Given the description of an element on the screen output the (x, y) to click on. 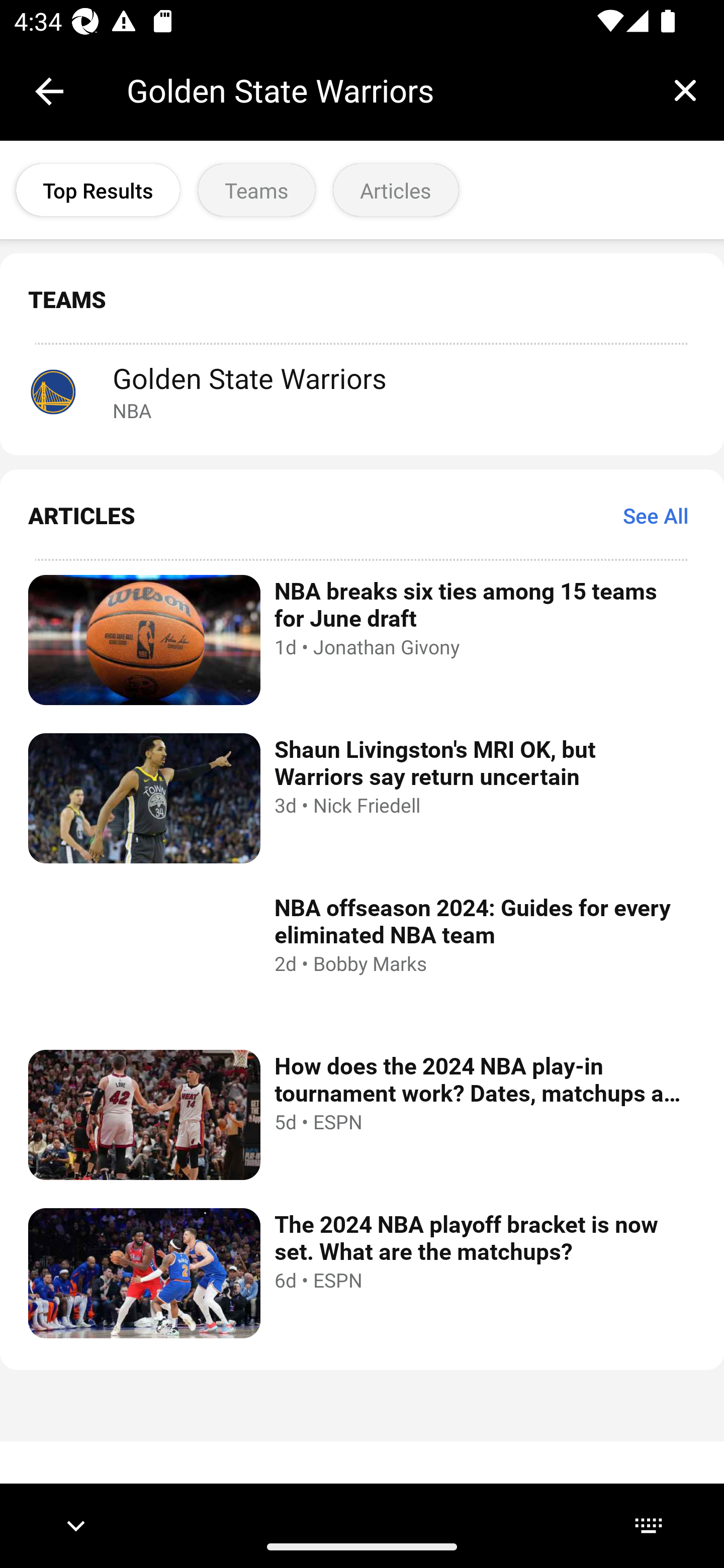
Collapse (49, 91)
Clear query (685, 89)
Golden State Warriors (386, 90)
Top Results (97, 190)
Teams (256, 190)
Articles (395, 190)
See All (655, 514)
